Given the description of an element on the screen output the (x, y) to click on. 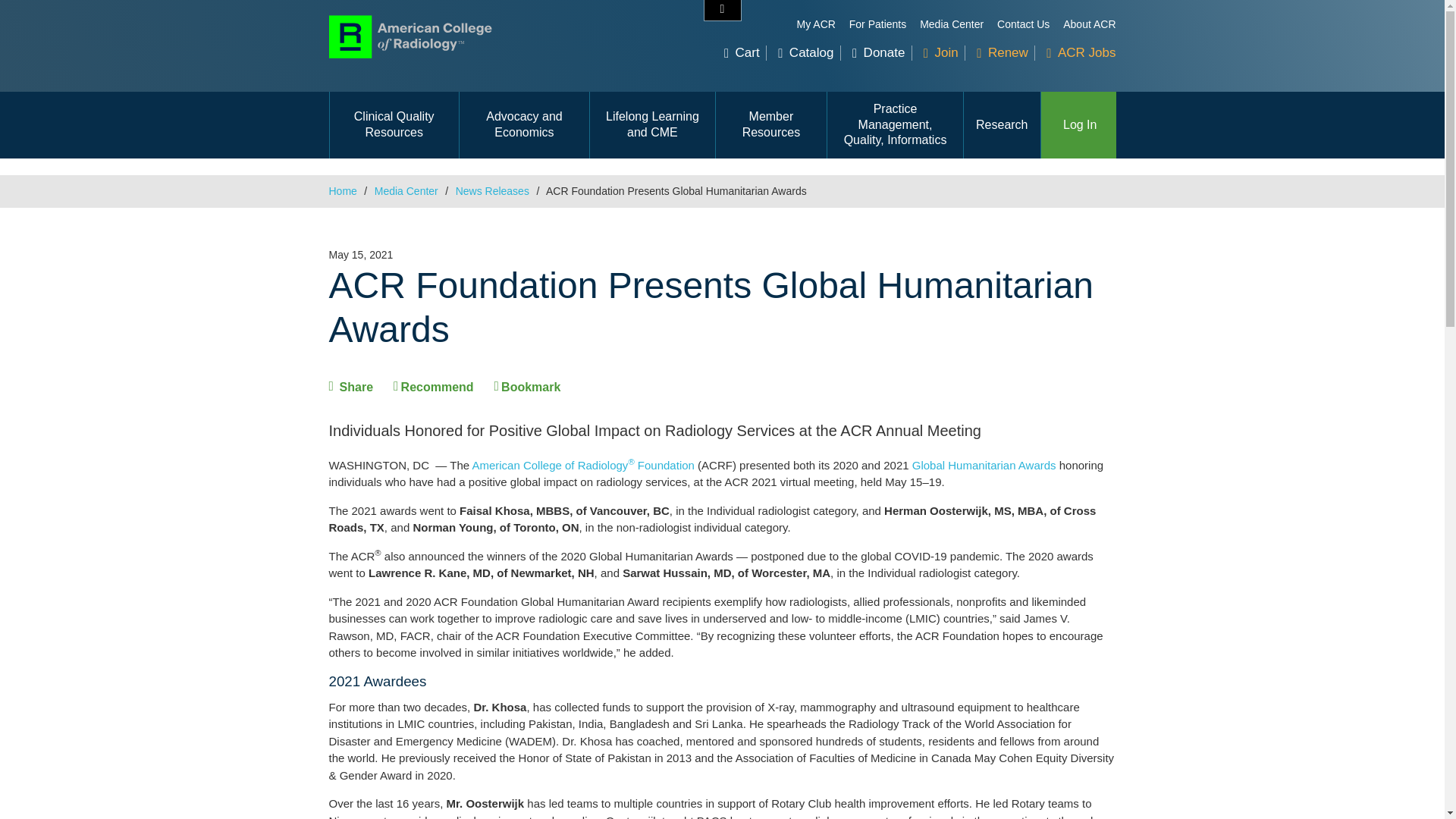
Media Center (952, 24)
Donate (878, 52)
About ACR (1088, 24)
Contact Us (1023, 24)
For Patients (876, 24)
Catalog (804, 52)
Join (940, 52)
Cart (741, 52)
Clinical Quality Resources (393, 124)
Renew (1001, 52)
